Given the description of an element on the screen output the (x, y) to click on. 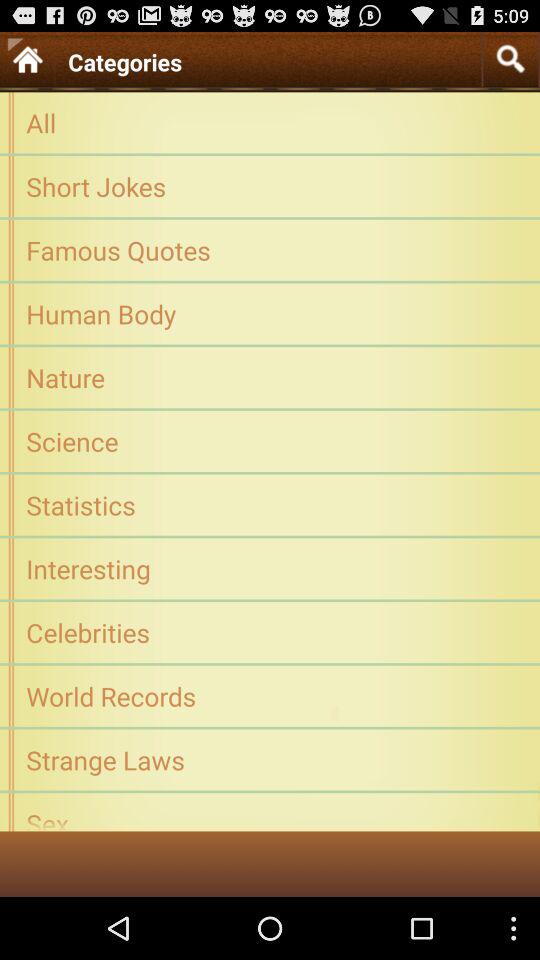
swipe to statistics (270, 504)
